Given the description of an element on the screen output the (x, y) to click on. 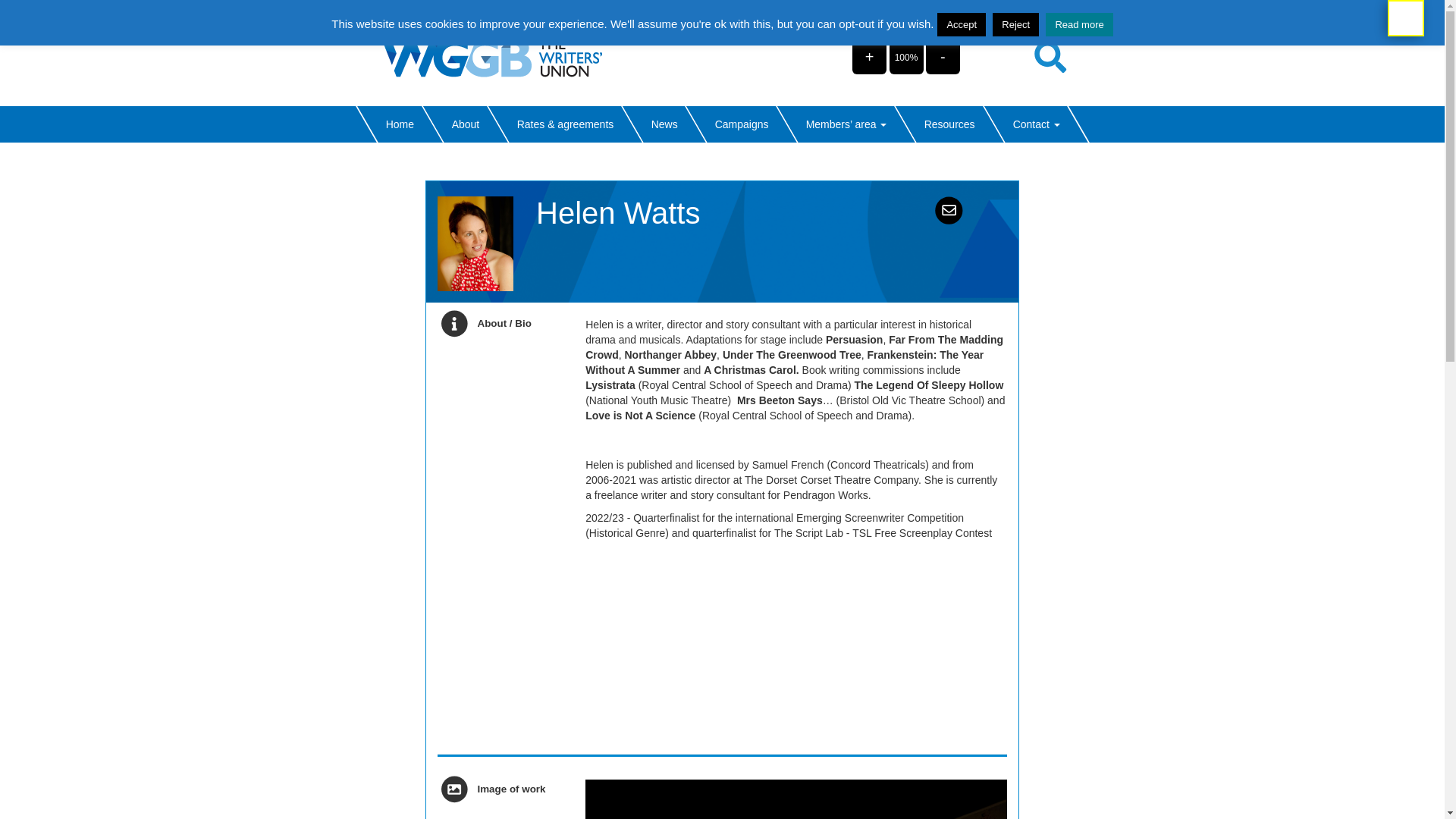
News (662, 124)
Resources (948, 124)
About (464, 124)
Home (398, 124)
- (942, 56)
Campaigns (740, 124)
Contact (1035, 124)
